Given the description of an element on the screen output the (x, y) to click on. 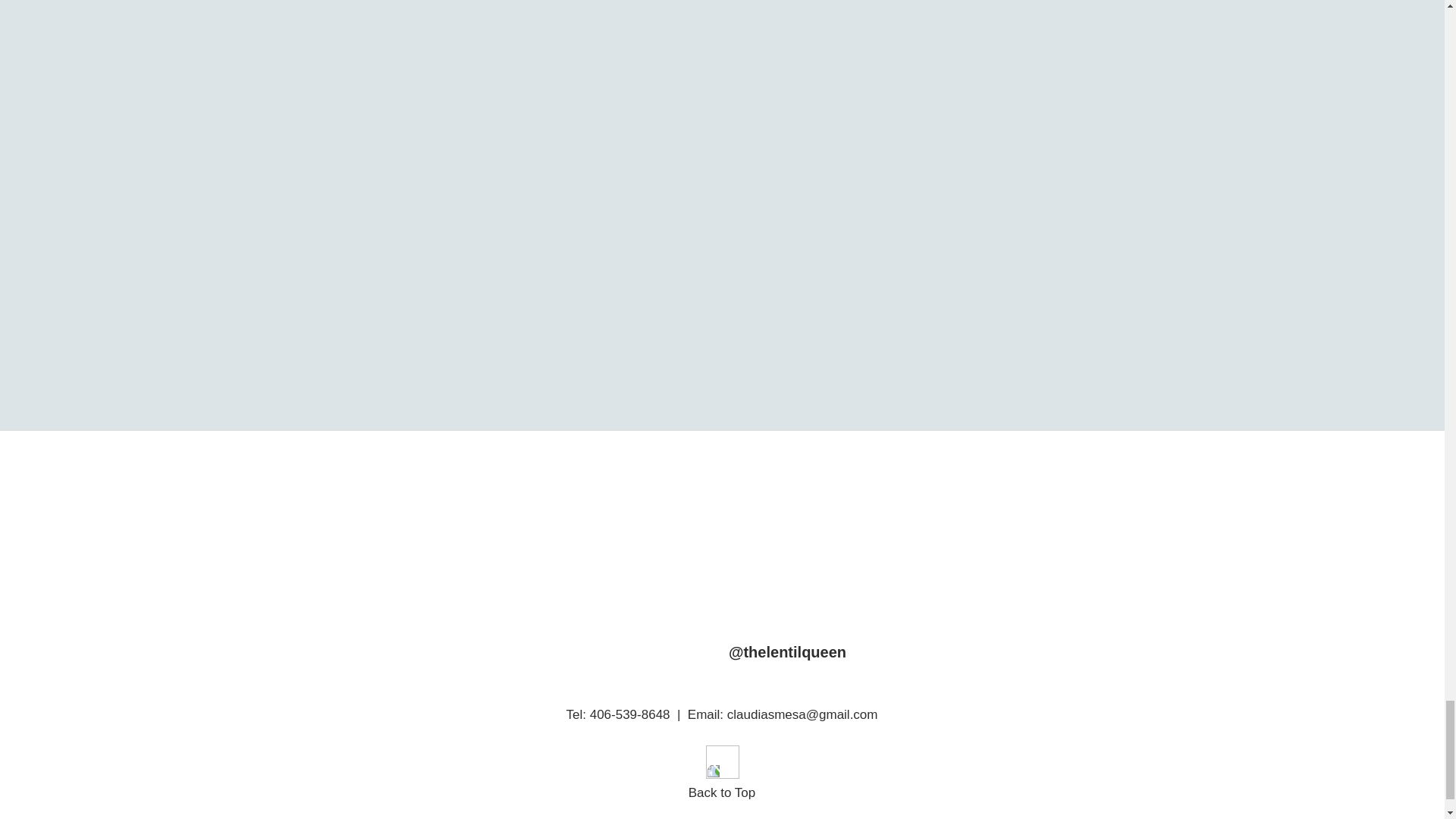
Back to Top (721, 792)
